Given the description of an element on the screen output the (x, y) to click on. 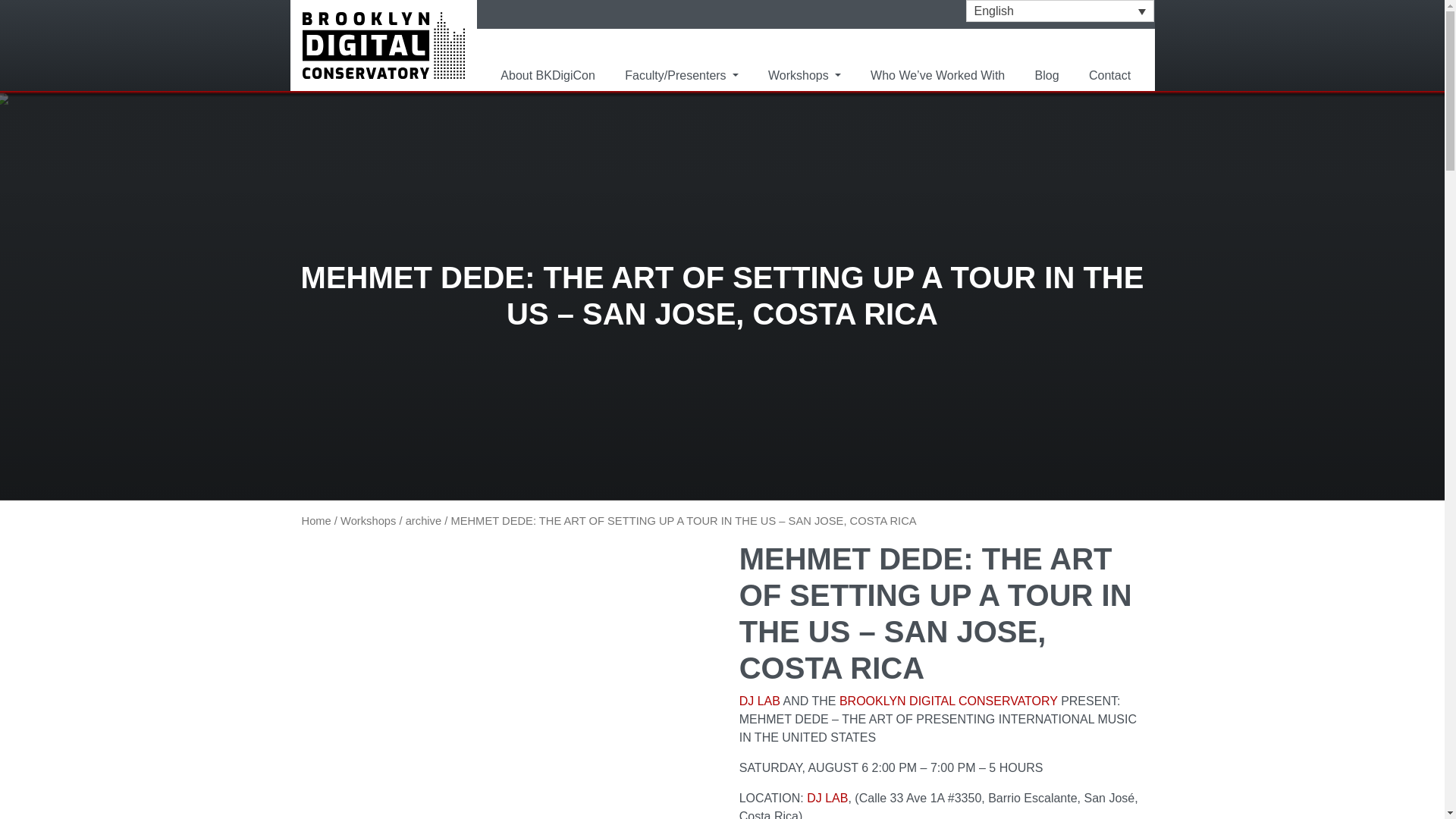
DJ LAB (759, 700)
Blog (1047, 75)
Home (316, 521)
Workshops (804, 75)
BROOKLYN DIGITAL CONSERVATORY (949, 700)
archive (423, 521)
Workshops (368, 521)
English (1060, 11)
About BKDigiCon (548, 75)
Contact (1110, 75)
DJ LAB (826, 797)
Workshops (804, 75)
About BKDigiCon (548, 75)
